Given the description of an element on the screen output the (x, y) to click on. 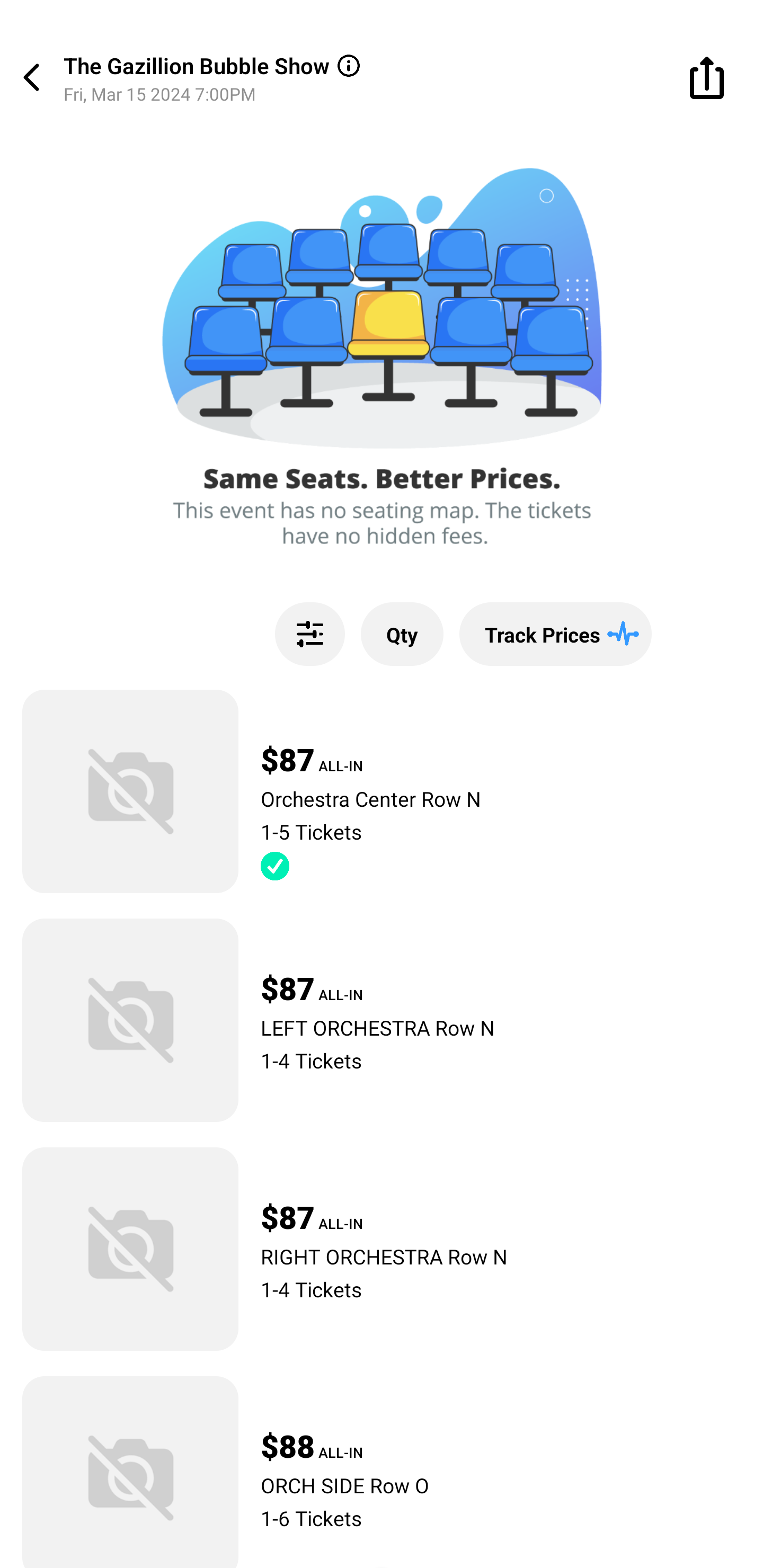
Qty (401, 634)
Track Prices (555, 634)
